Given the description of an element on the screen output the (x, y) to click on. 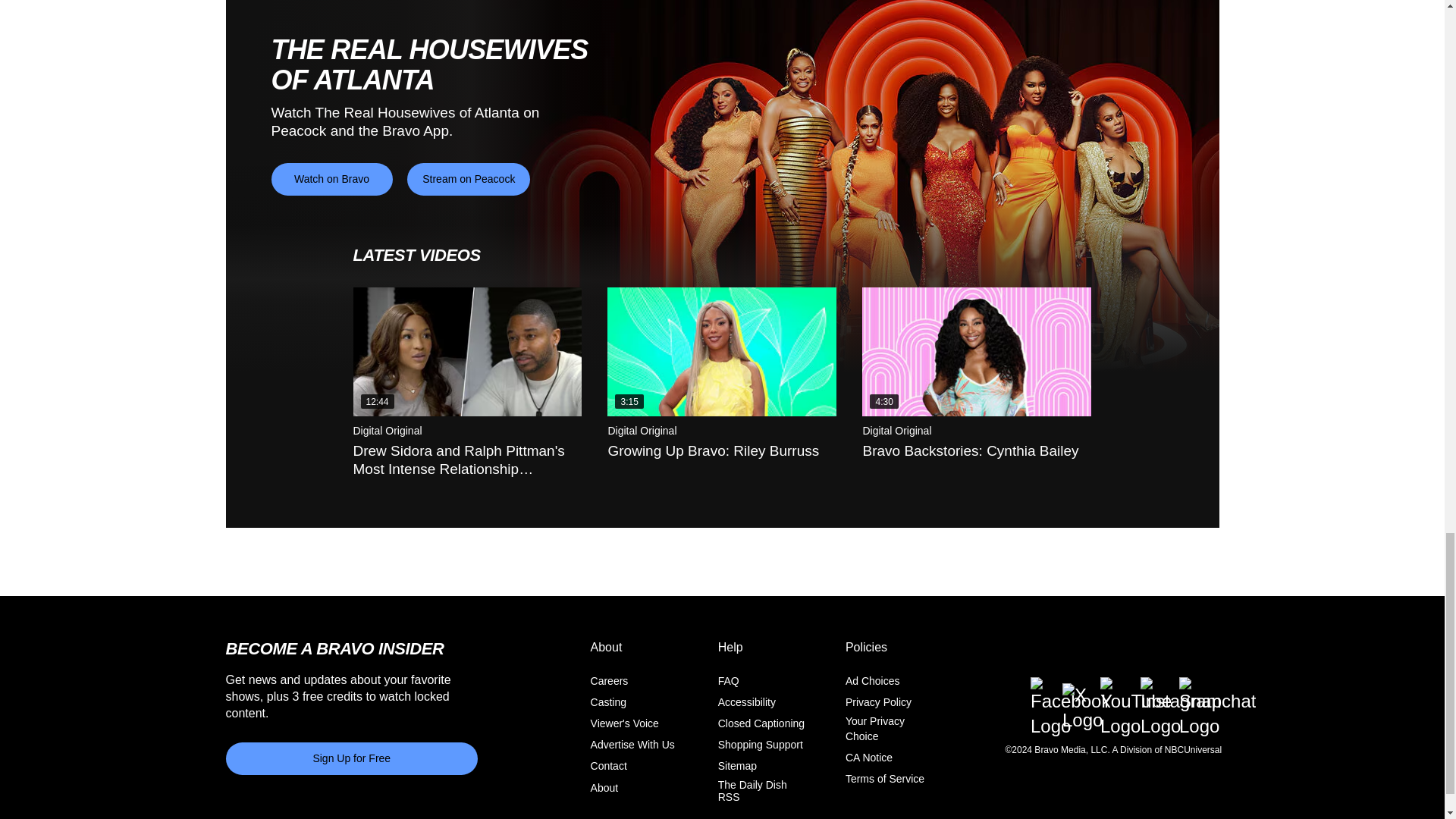
Growing Up Bravo: Riley Burruss (721, 351)
Advertise With Us (633, 745)
Bravo Backstories: Cynthia Bailey (975, 351)
